Given the description of an element on the screen output the (x, y) to click on. 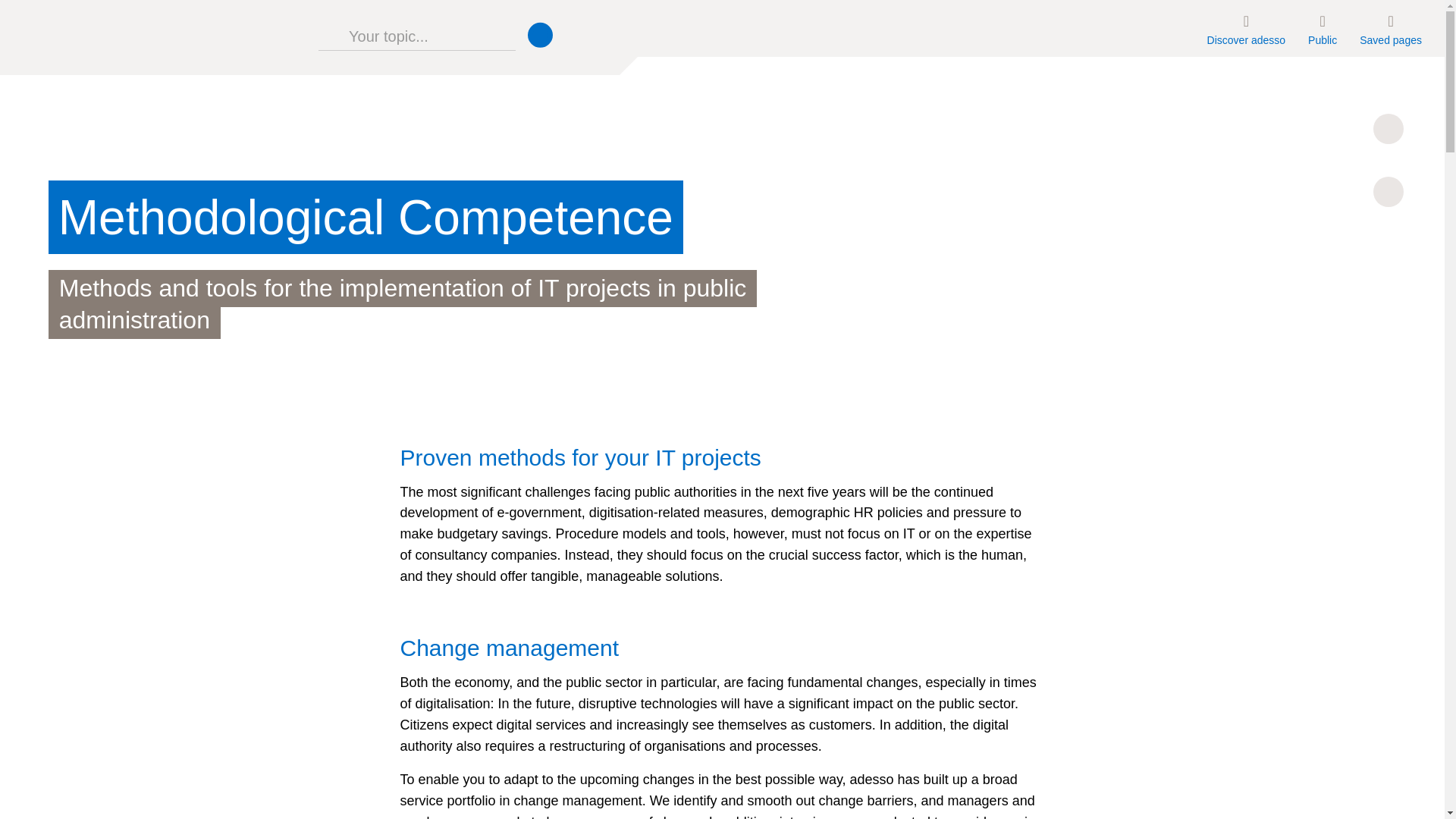
Saved pages (1390, 28)
Public (1322, 28)
Discover adesso (1246, 28)
